Given the description of an element on the screen output the (x, y) to click on. 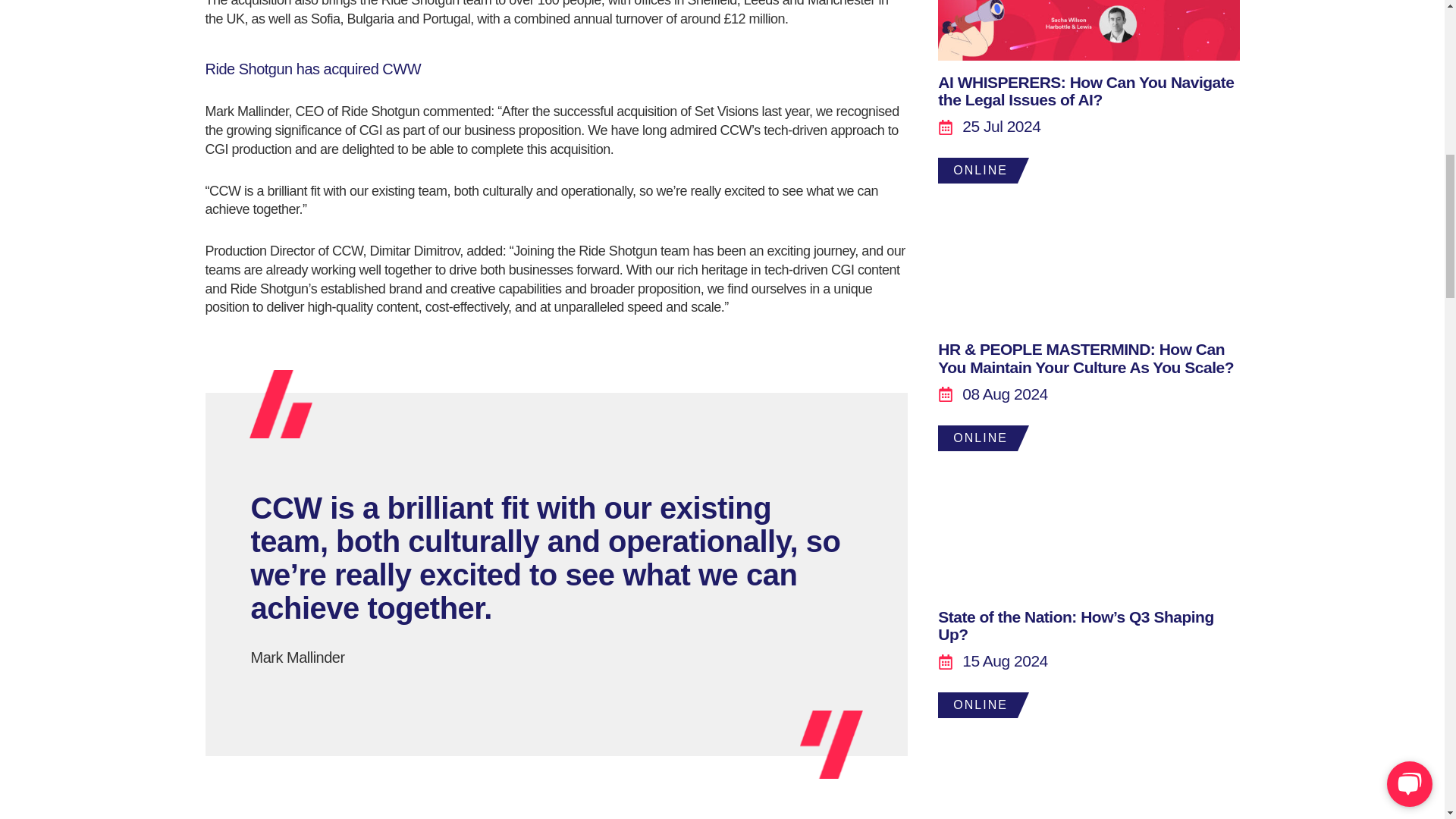
ONLINE (1088, 245)
ONLINE (1088, 512)
ONLINE (1088, 33)
AI WHISPERERS: How Can You Navigate the Legal Issues of AI? (1085, 90)
